Given the description of an element on the screen output the (x, y) to click on. 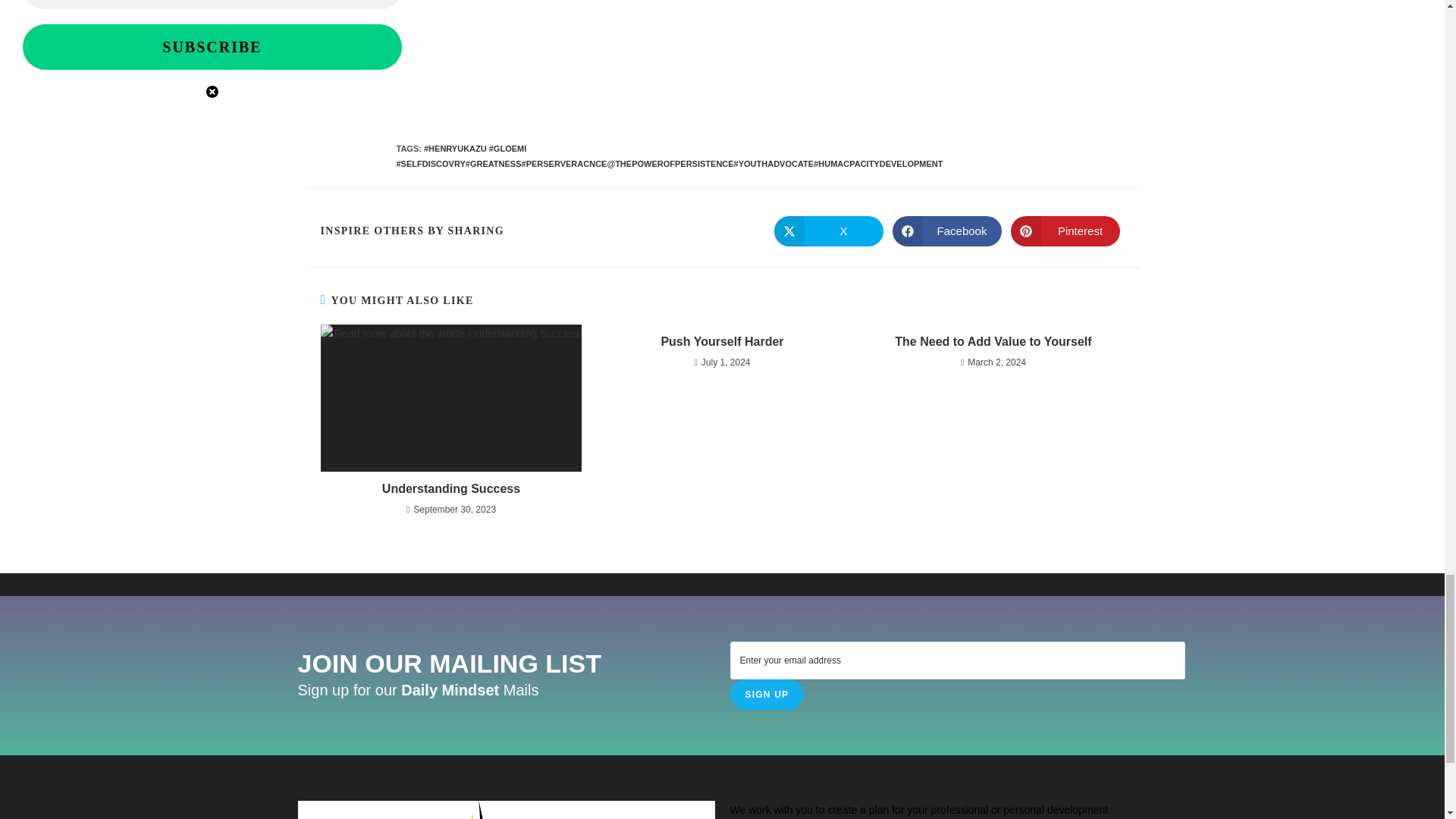
Pinterest (1064, 231)
Facebook (946, 231)
X (827, 231)
Email Address (212, 4)
Enter your email address (957, 660)
Understanding Success (450, 488)
Subscribe (212, 46)
Subscribe (212, 46)
Push Yourself Harder (721, 341)
SIGN UP (766, 694)
